Given the description of an element on the screen output the (x, y) to click on. 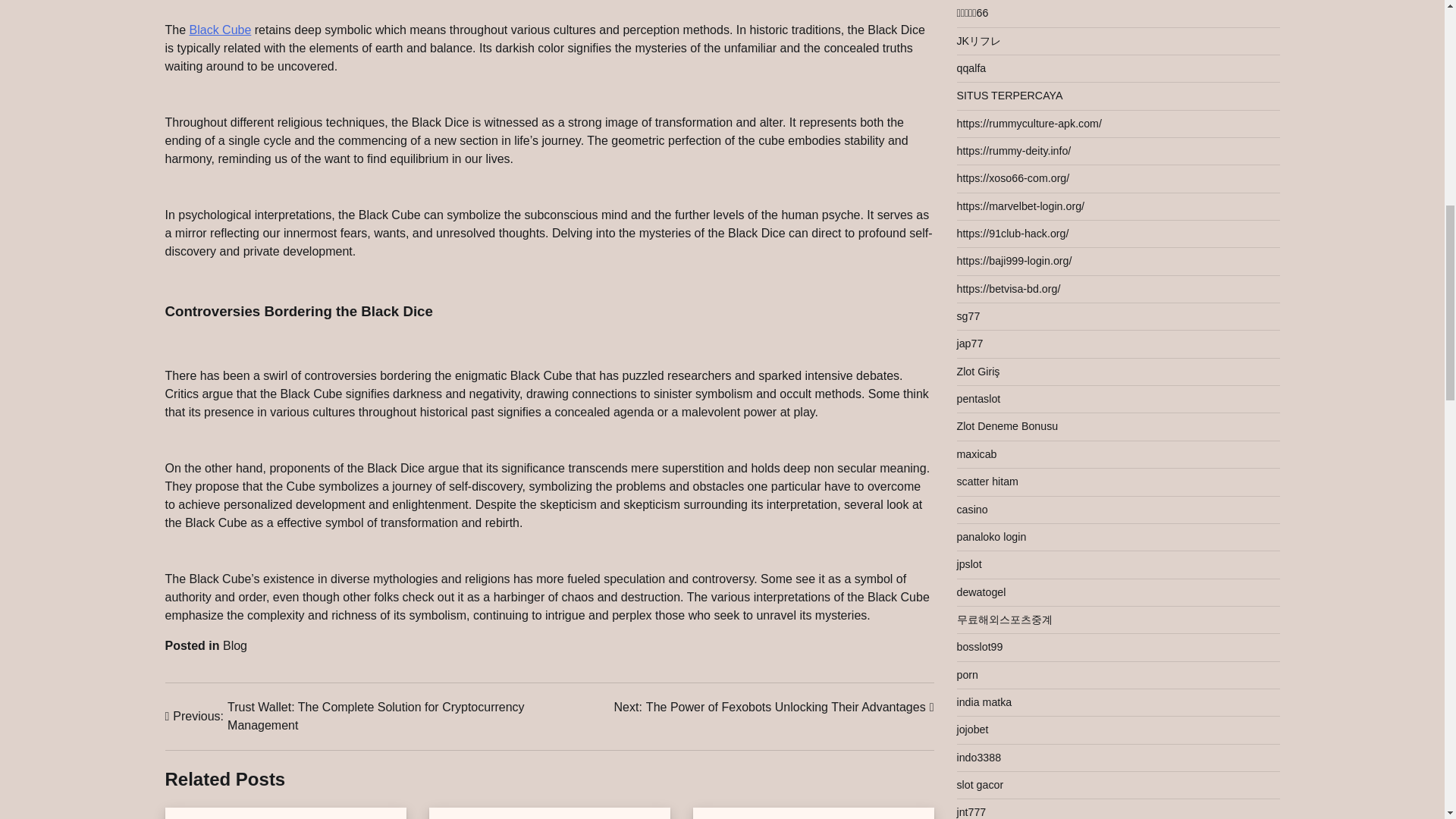
Blog (774, 707)
BLOG (234, 645)
BLOG (220, 29)
